Given the description of an element on the screen output the (x, y) to click on. 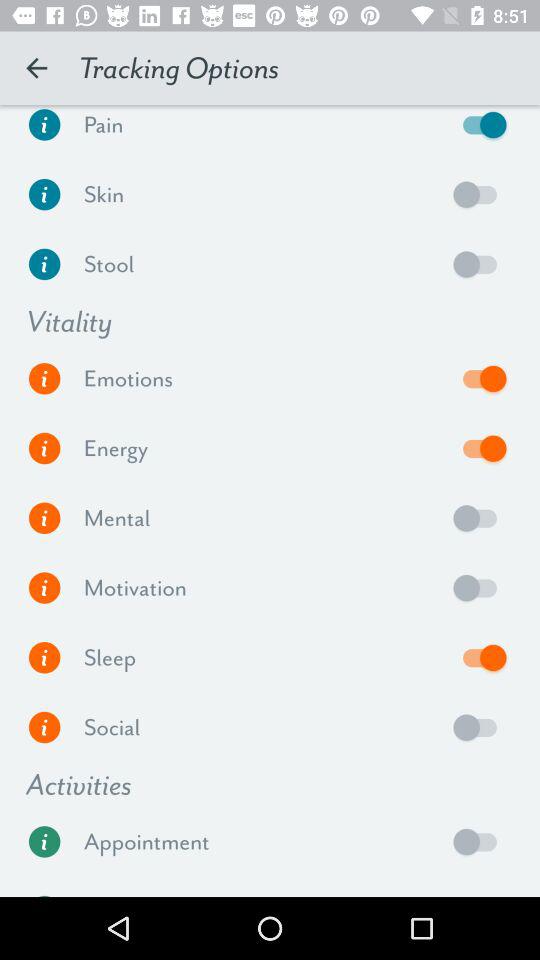
press for information (44, 263)
